Given the description of an element on the screen output the (x, y) to click on. 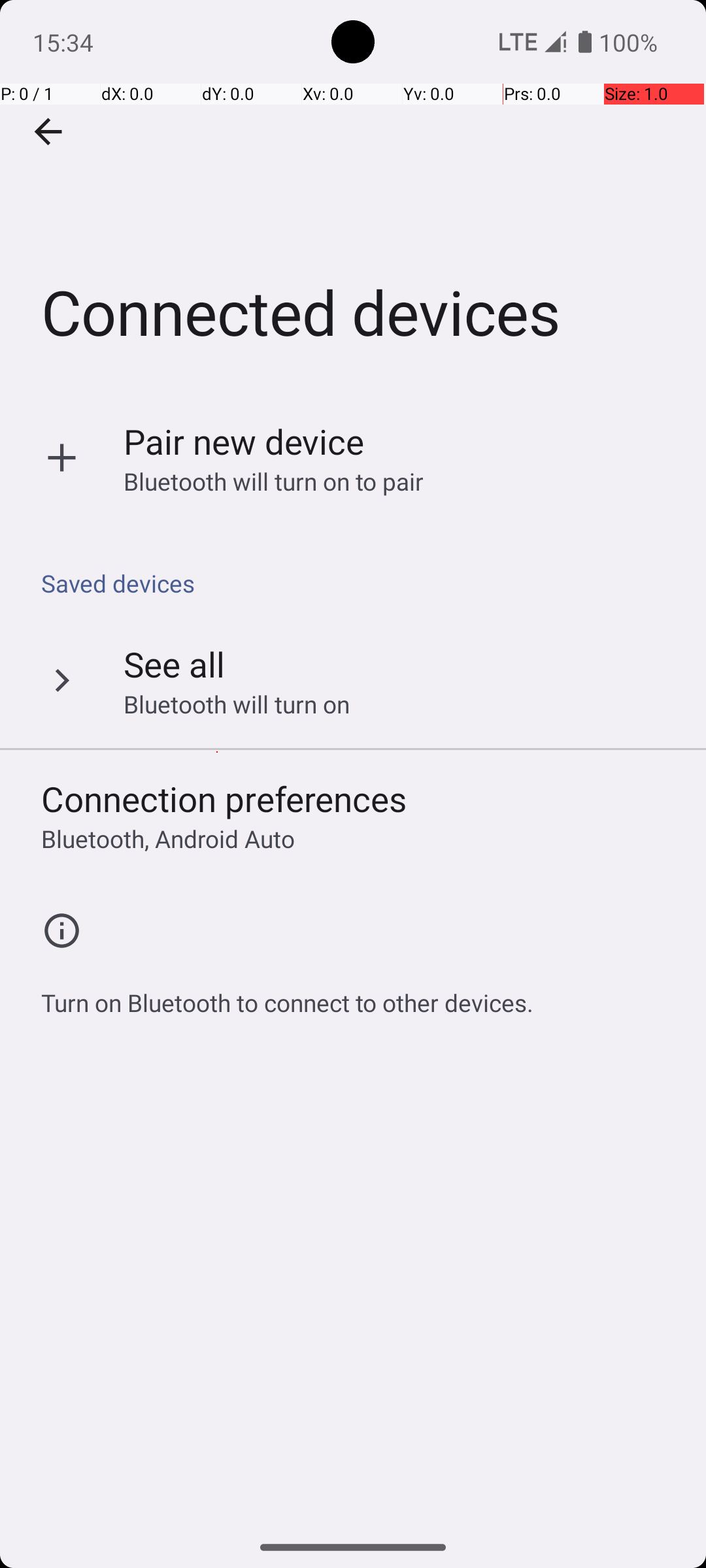
Bluetooth will turn on to pair Element type: android.widget.TextView (273, 480)
See all Element type: android.widget.TextView (173, 663)
Bluetooth will turn on Element type: android.widget.TextView (236, 703)
Connection preferences Element type: android.widget.TextView (224, 798)
Bluetooth, Android Auto Element type: android.widget.TextView (167, 838)
Turn on Bluetooth to connect to other devices. Element type: android.widget.TextView (287, 995)
